Given the description of an element on the screen output the (x, y) to click on. 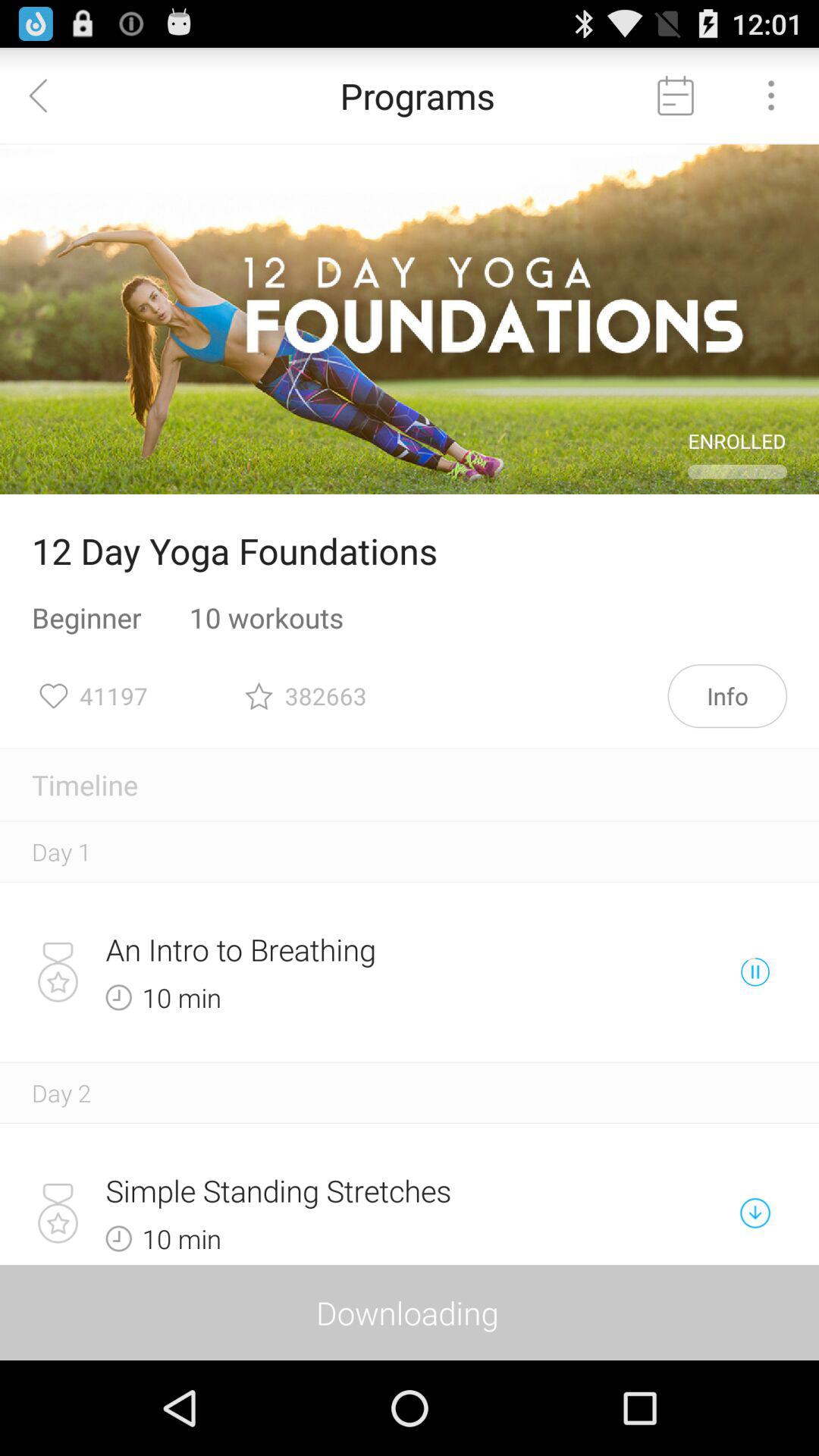
press the simple standing stretches (356, 1190)
